Given the description of an element on the screen output the (x, y) to click on. 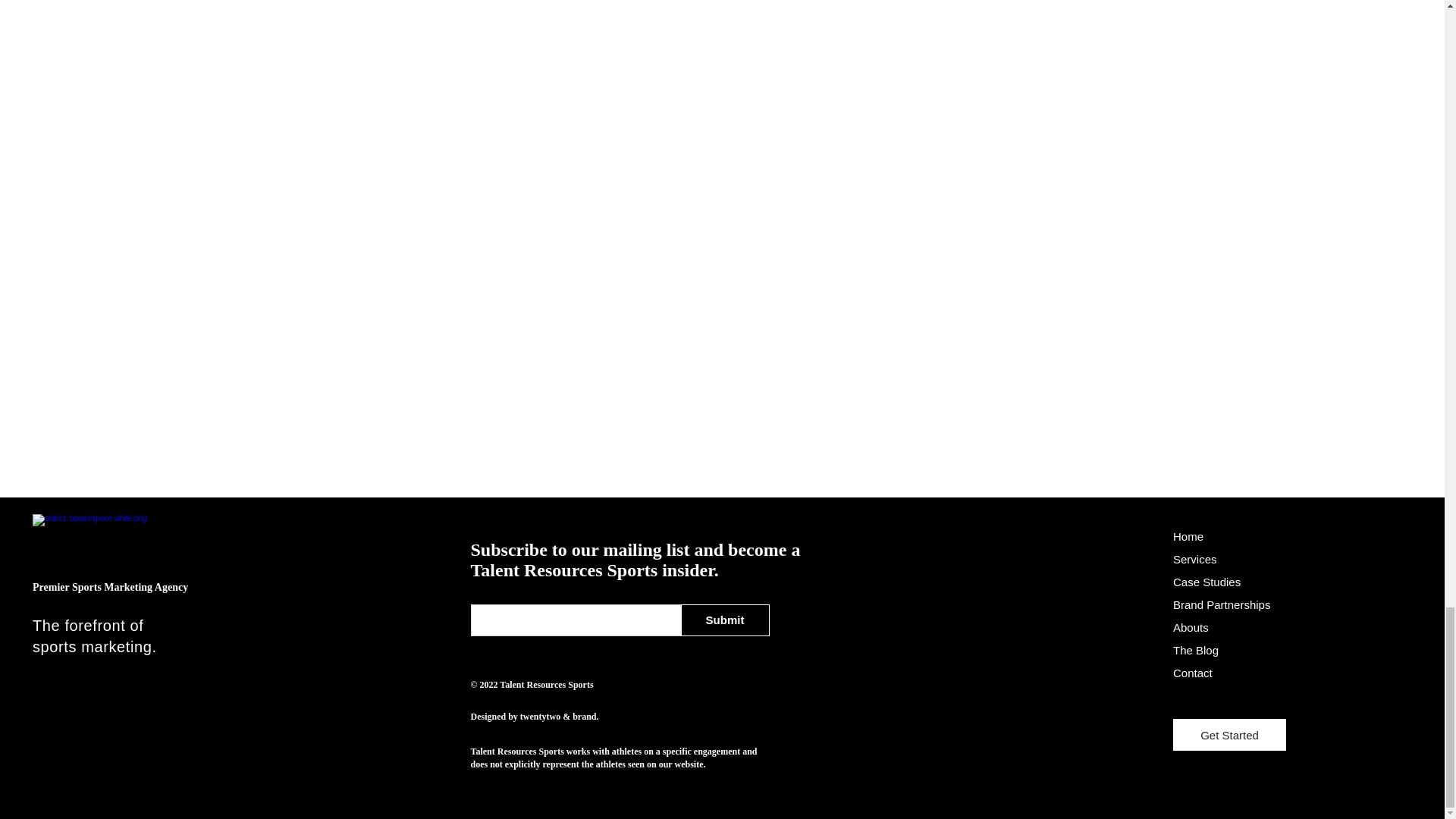
Case Studies (1206, 581)
Brand Partnerships (1221, 604)
Home (1188, 535)
Get Started (1229, 735)
Submit (725, 620)
Abouts (1190, 626)
The Blog (1195, 649)
Contact (1192, 672)
Services (1195, 558)
